Given the description of an element on the screen output the (x, y) to click on. 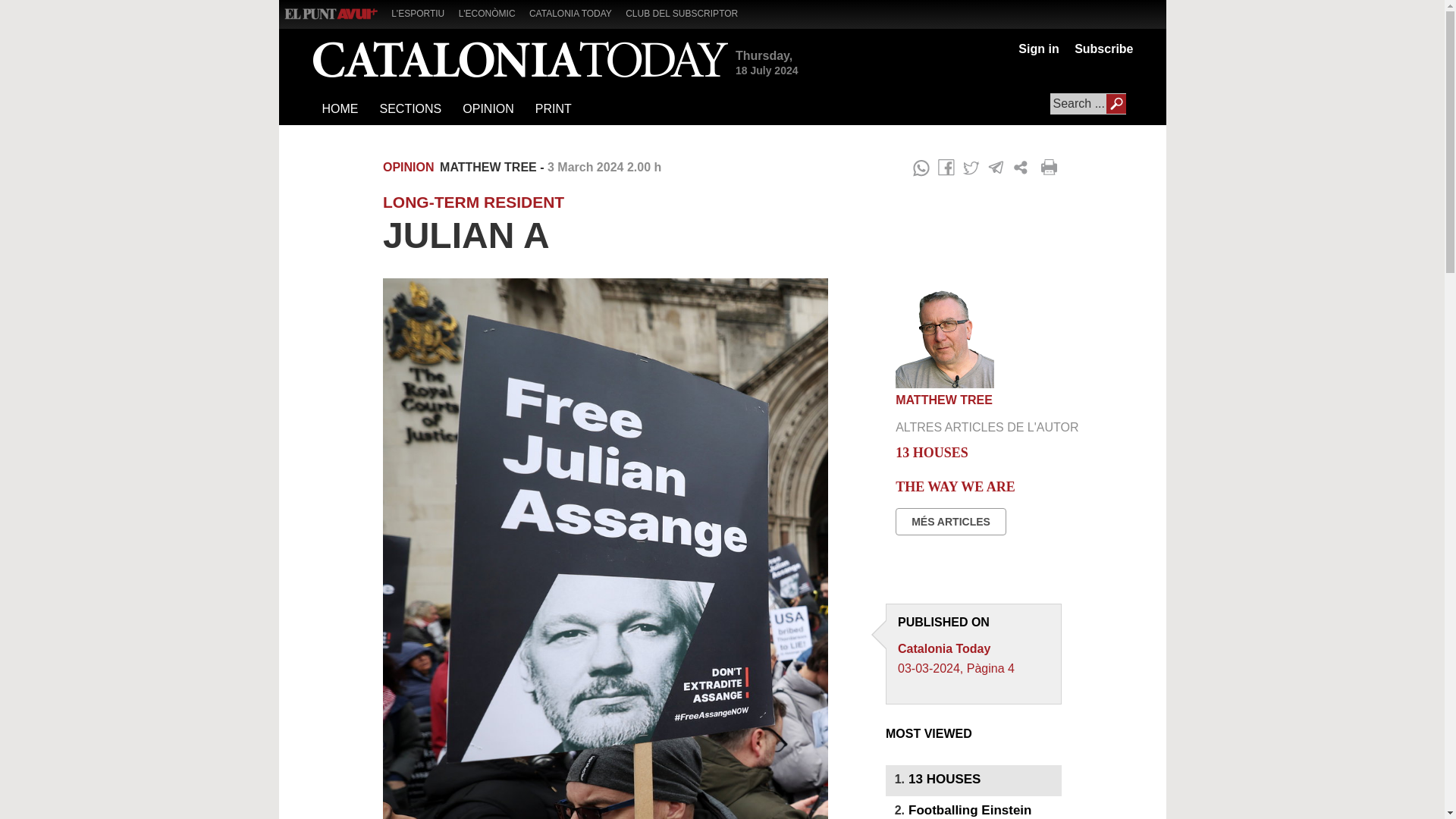
Subscribe (1099, 48)
Search ... (1087, 103)
Share on WhatsApp (921, 167)
Share on Twitter (970, 167)
El Punt Avui (330, 13)
PRINT (552, 109)
Search ... (1087, 103)
Sign in (1037, 49)
Share on Facebook (946, 167)
CATALONIA TODAY (576, 12)
L'ESPORTIU (423, 12)
OPINION (487, 109)
Print (1051, 167)
